Given the description of an element on the screen output the (x, y) to click on. 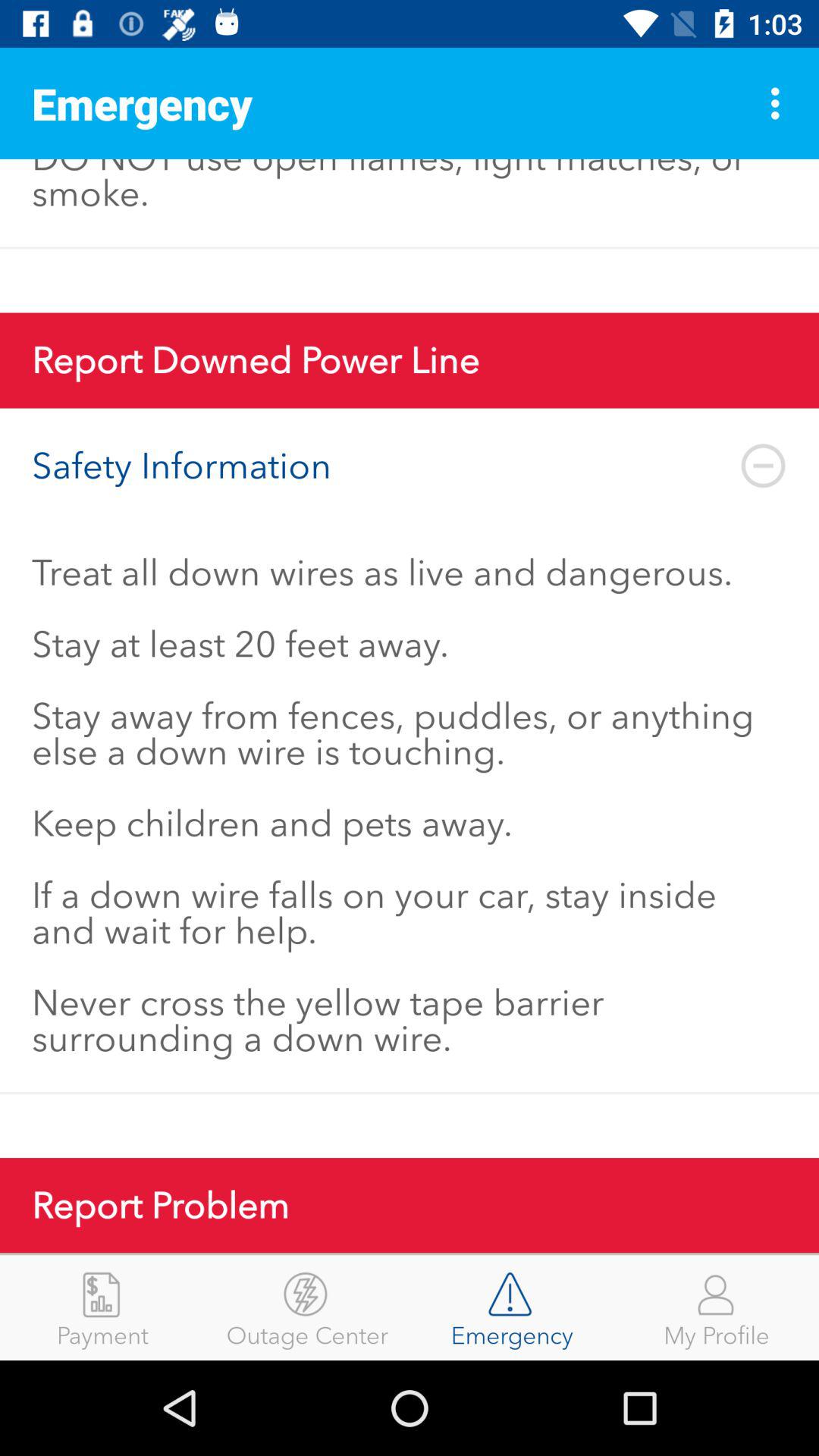
jump until outage center icon (306, 1307)
